Given the description of an element on the screen output the (x, y) to click on. 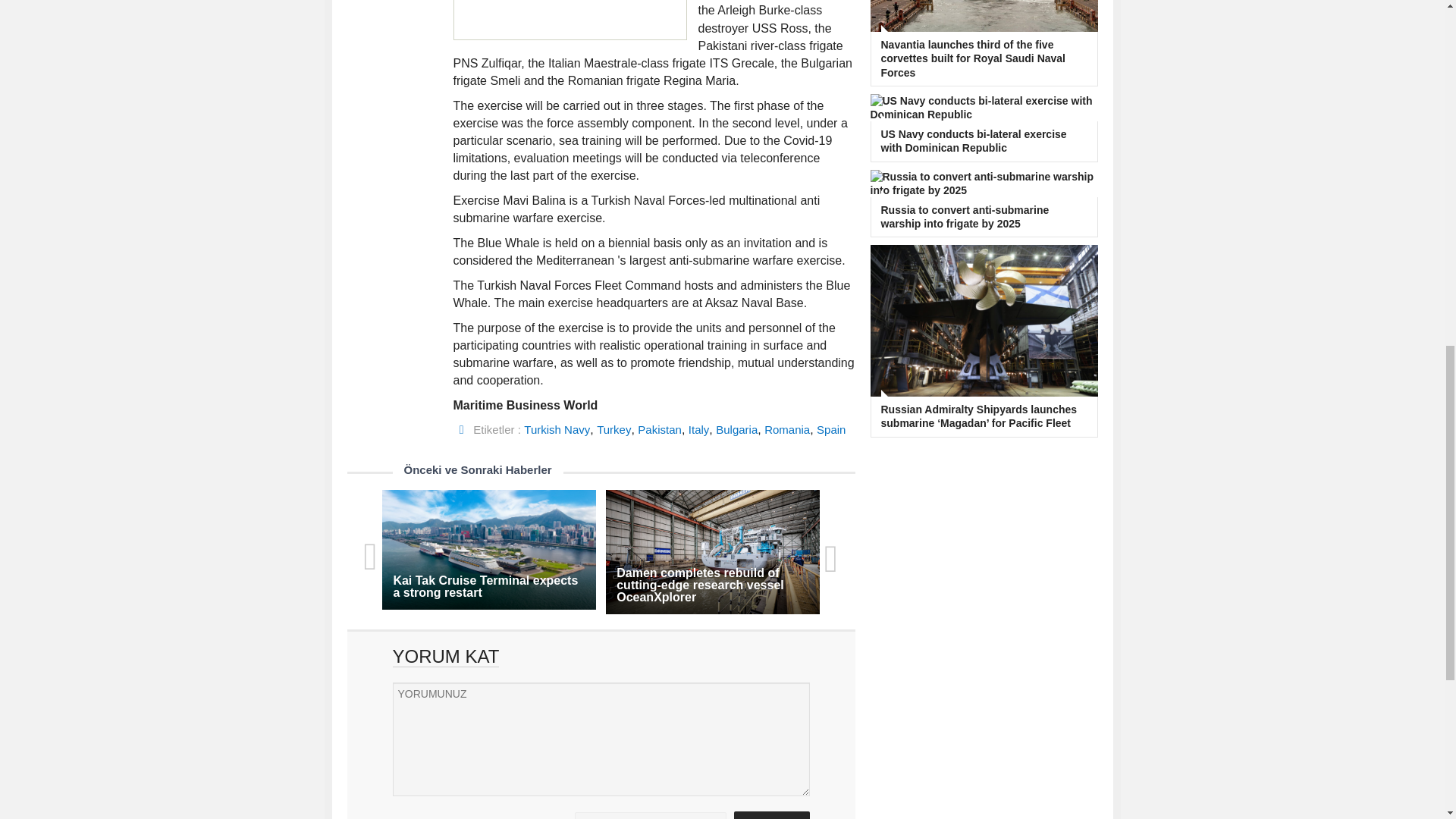
YORUMLA (771, 815)
Pakistan haberleri (659, 429)
Turkish Navy haberleri (556, 429)
Bulgaria haberleri (736, 429)
Romania haberleri (786, 429)
Italy haberleri (699, 429)
Turkey haberleri (613, 429)
